Given the description of an element on the screen output the (x, y) to click on. 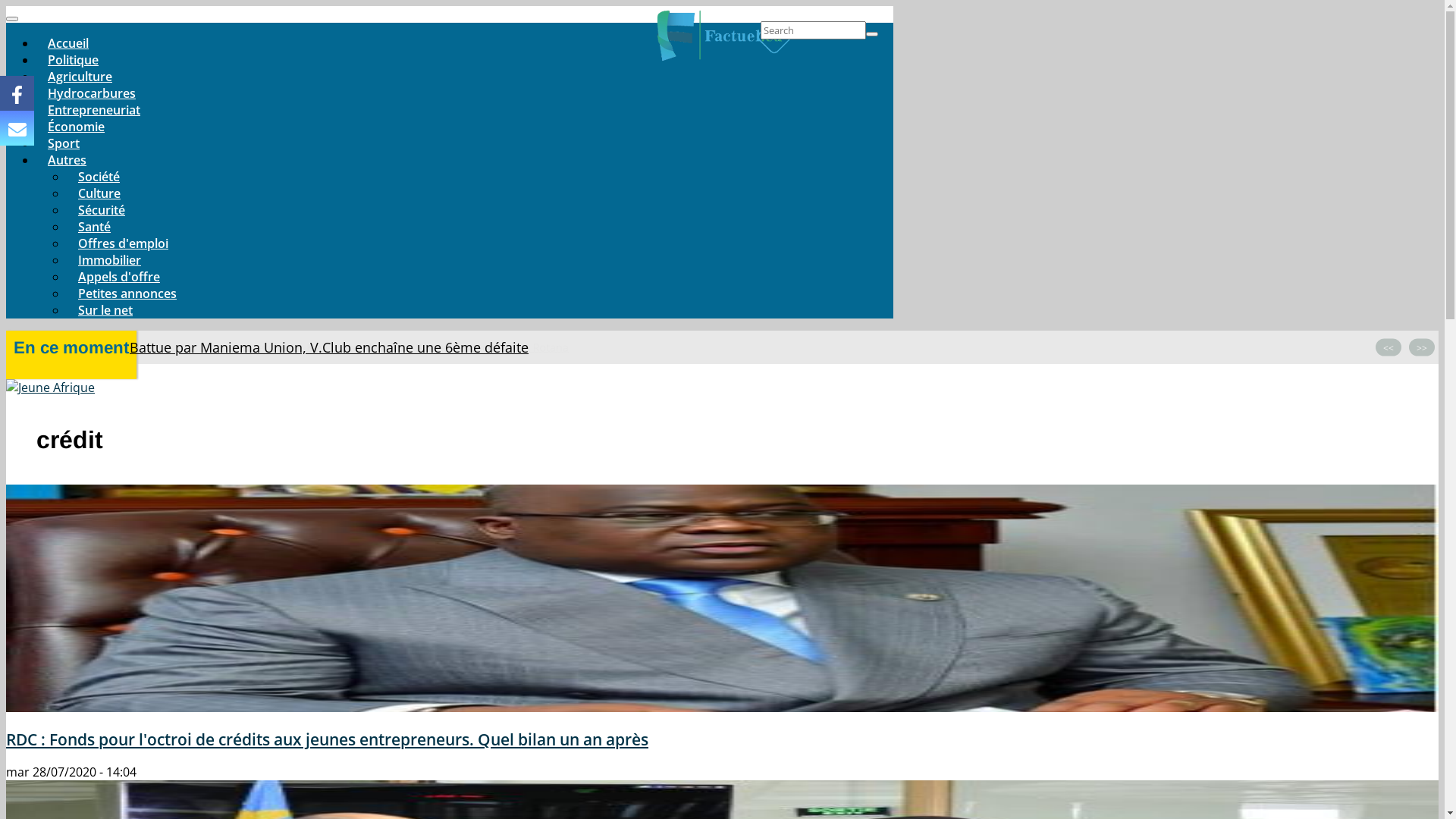
Culture Element type: text (98, 193)
Hydrocarbures Element type: text (91, 93)
Accueil Element type: text (68, 43)
Autres Element type: text (66, 159)
Entrepreneuriat Element type: text (93, 109)
Nous sommes sur Facebook ! Element type: hover (17, 92)
Agriculture Element type: text (79, 76)
Aller au contenu principal Element type: text (6, 6)
Accueil Element type: hover (722, 38)
Immobilier Element type: text (109, 260)
Search Element type: text (872, 33)
Offres d'emploi Element type: text (122, 243)
Sport Element type: text (63, 143)
Petites annonces Element type: text (127, 293)
Toggle navigation Element type: text (12, 18)
Appels d'offre Element type: text (118, 276)
Sur le net Element type: text (105, 310)
Politique Element type: text (72, 59)
